Given the description of an element on the screen output the (x, y) to click on. 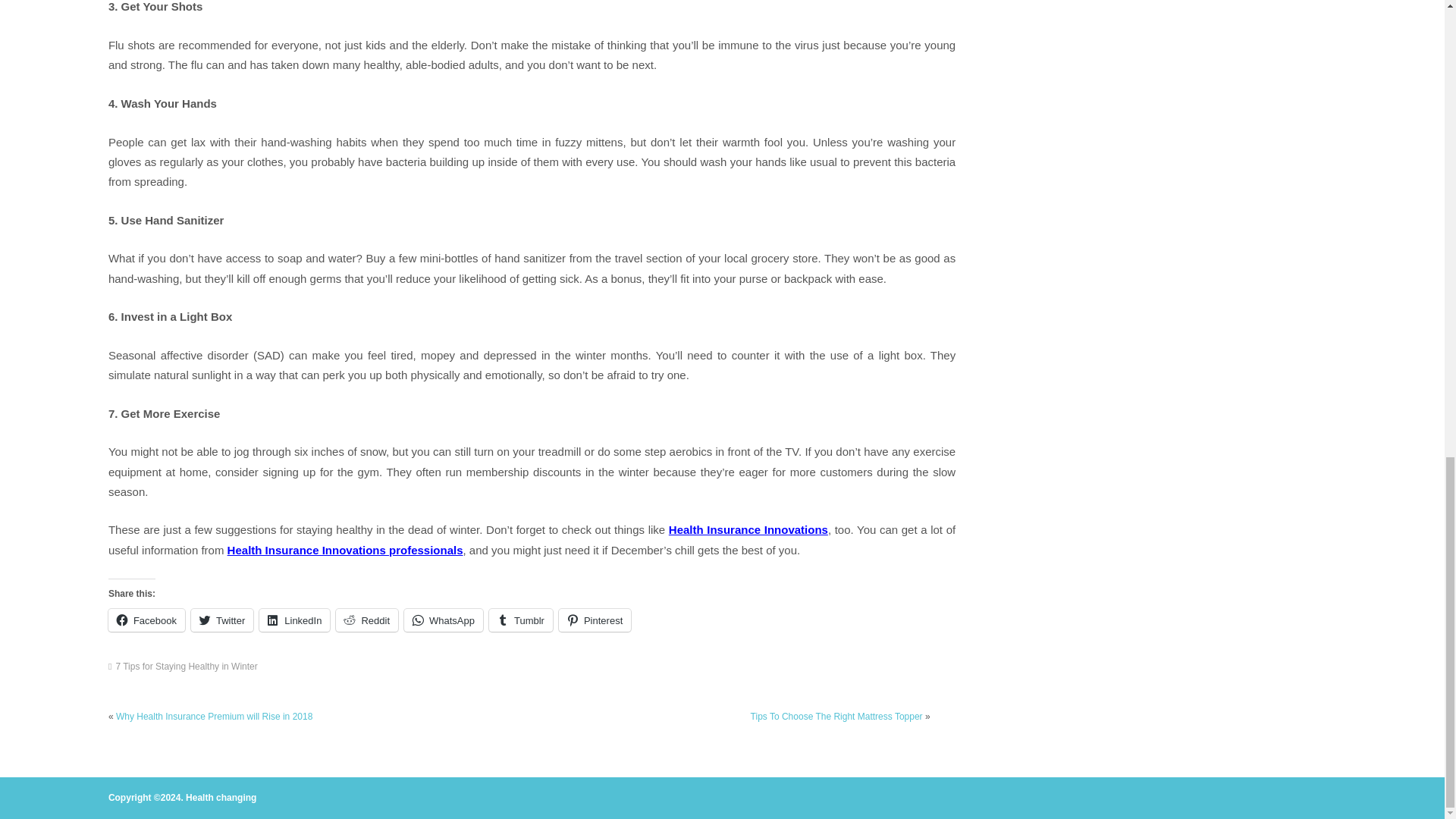
Click to share on Pinterest (594, 620)
Twitter (221, 620)
LinkedIn (294, 620)
Click to share on Reddit (366, 620)
Facebook (145, 620)
Health Insurance Innovations (748, 529)
Health Insurance Innovations professionals (345, 549)
Click to share on Facebook (145, 620)
Click to share on Tumblr (521, 620)
Click to share on WhatsApp (443, 620)
Click to share on Twitter (221, 620)
Click to share on LinkedIn (294, 620)
